Given the description of an element on the screen output the (x, y) to click on. 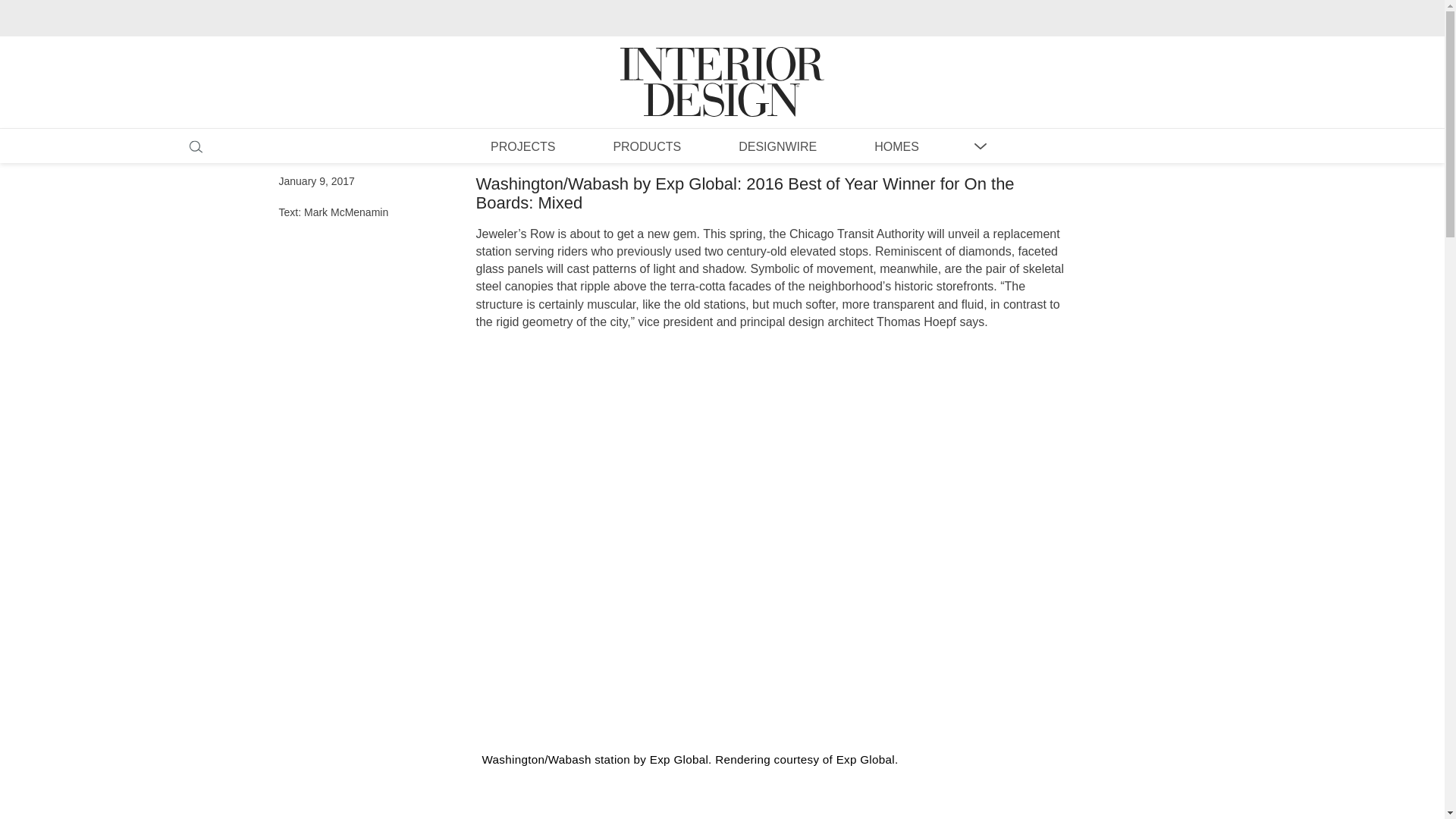
Interior Design (721, 67)
PRODUCTS (646, 145)
DESIGNWIRE (777, 145)
HOMES (896, 145)
PROJECTS (522, 145)
